Given the description of an element on the screen output the (x, y) to click on. 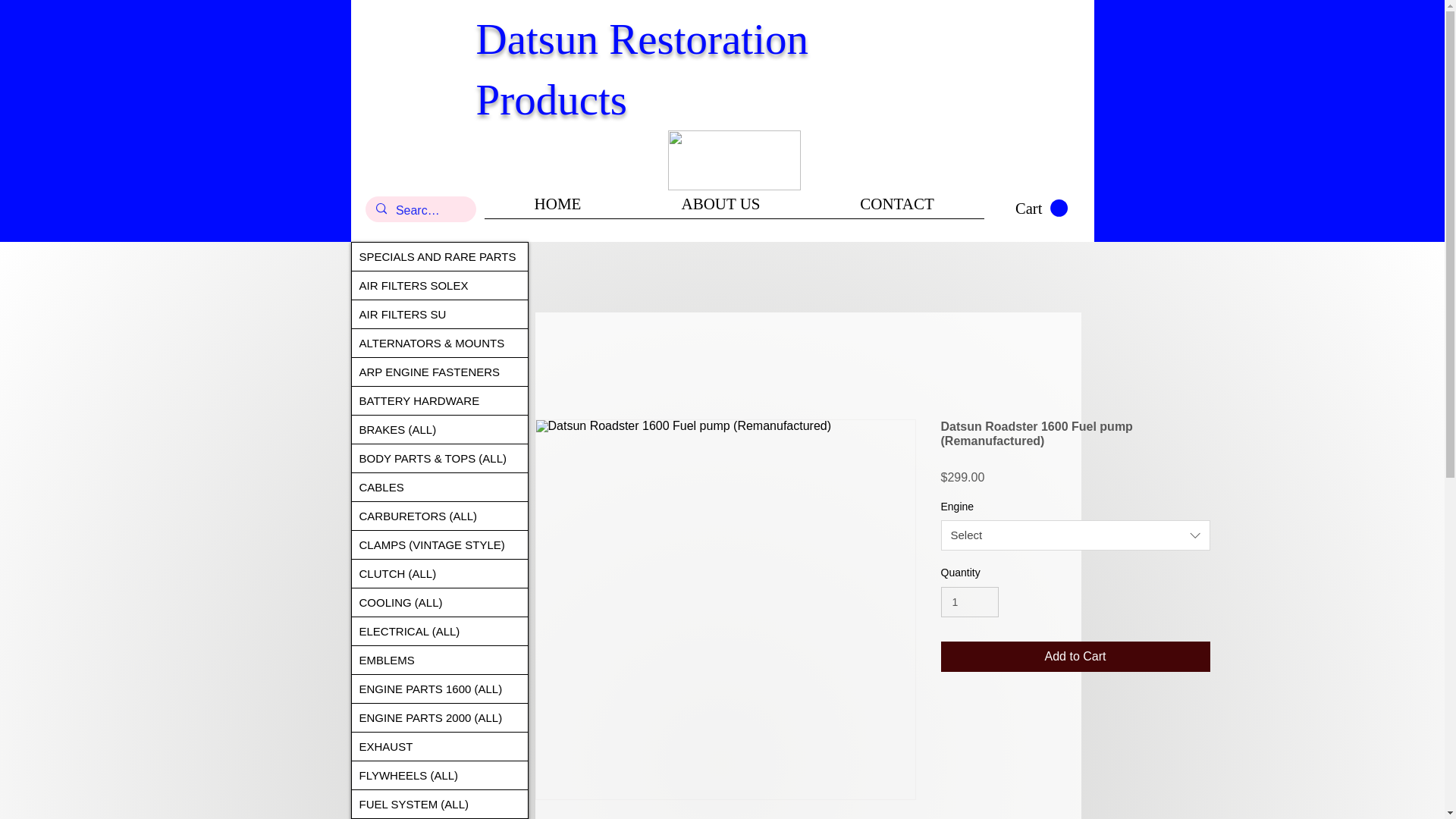
ARP ENGINE FASTENERS (439, 371)
Datsun Restoration Products (642, 69)
AIR FILTERS SOLEX (439, 285)
AIR FILTERS SU (439, 314)
ABOUT US (719, 209)
Cart (1040, 208)
CABLES (439, 487)
Add to Cart (1074, 656)
Select (1074, 535)
Cart (1040, 208)
HOME (556, 209)
BATTERY HARDWARE (439, 400)
SPECIALS AND RARE PARTS (439, 256)
CONTACT (896, 209)
1 (968, 602)
